Given the description of an element on the screen output the (x, y) to click on. 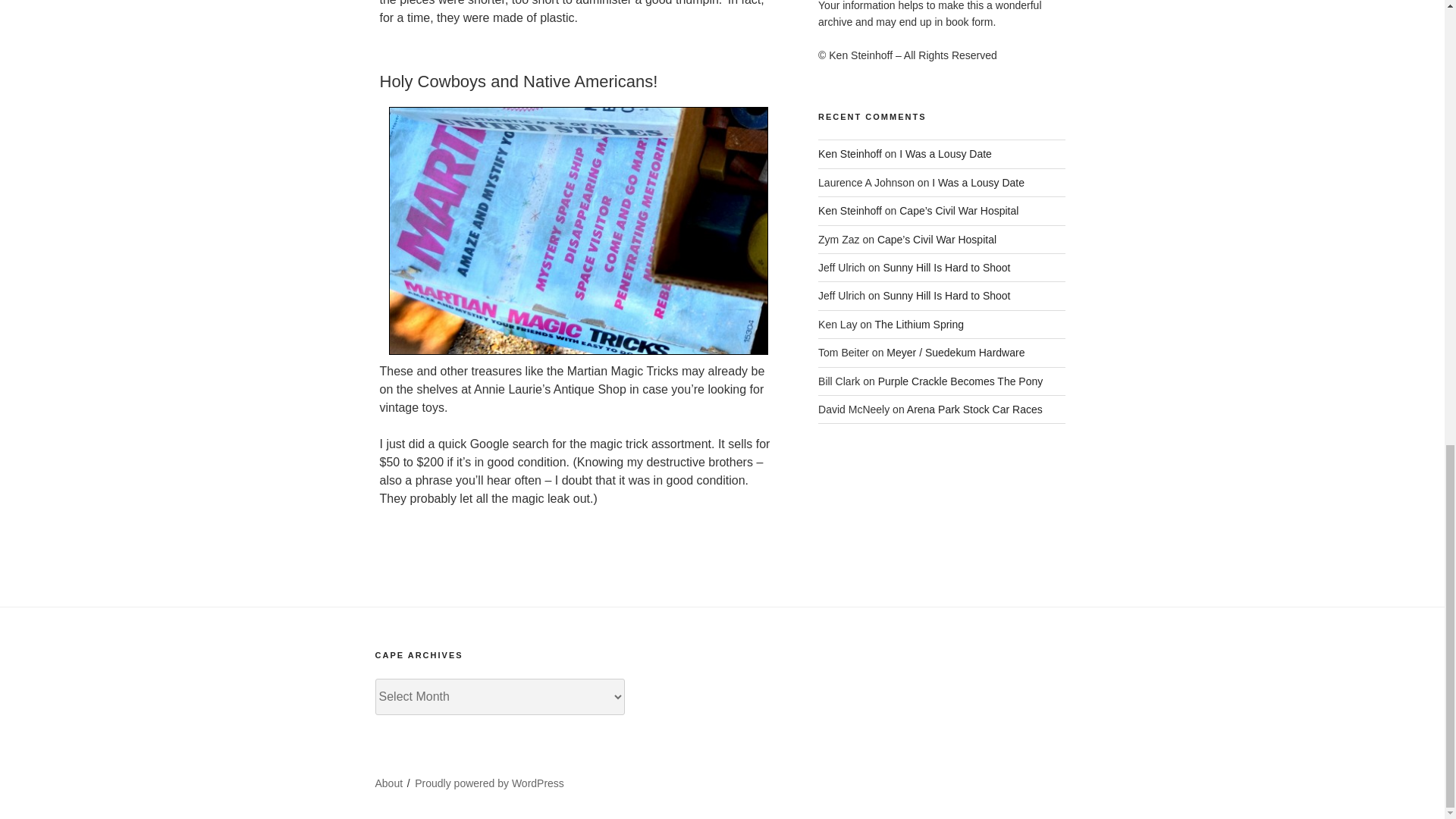
I Was a Lousy Date (978, 182)
Sunny Hill Is Hard to Shoot (946, 267)
The Lithium Spring (919, 324)
About (388, 783)
Purple Crackle Becomes The Pony (960, 381)
Proudly powered by WordPress (489, 783)
Arena Park Stock Car Races (974, 409)
I Was a Lousy Date (945, 153)
Ken Steinhoff (850, 210)
Sunny Hill Is Hard to Shoot (946, 295)
